Given the description of an element on the screen output the (x, y) to click on. 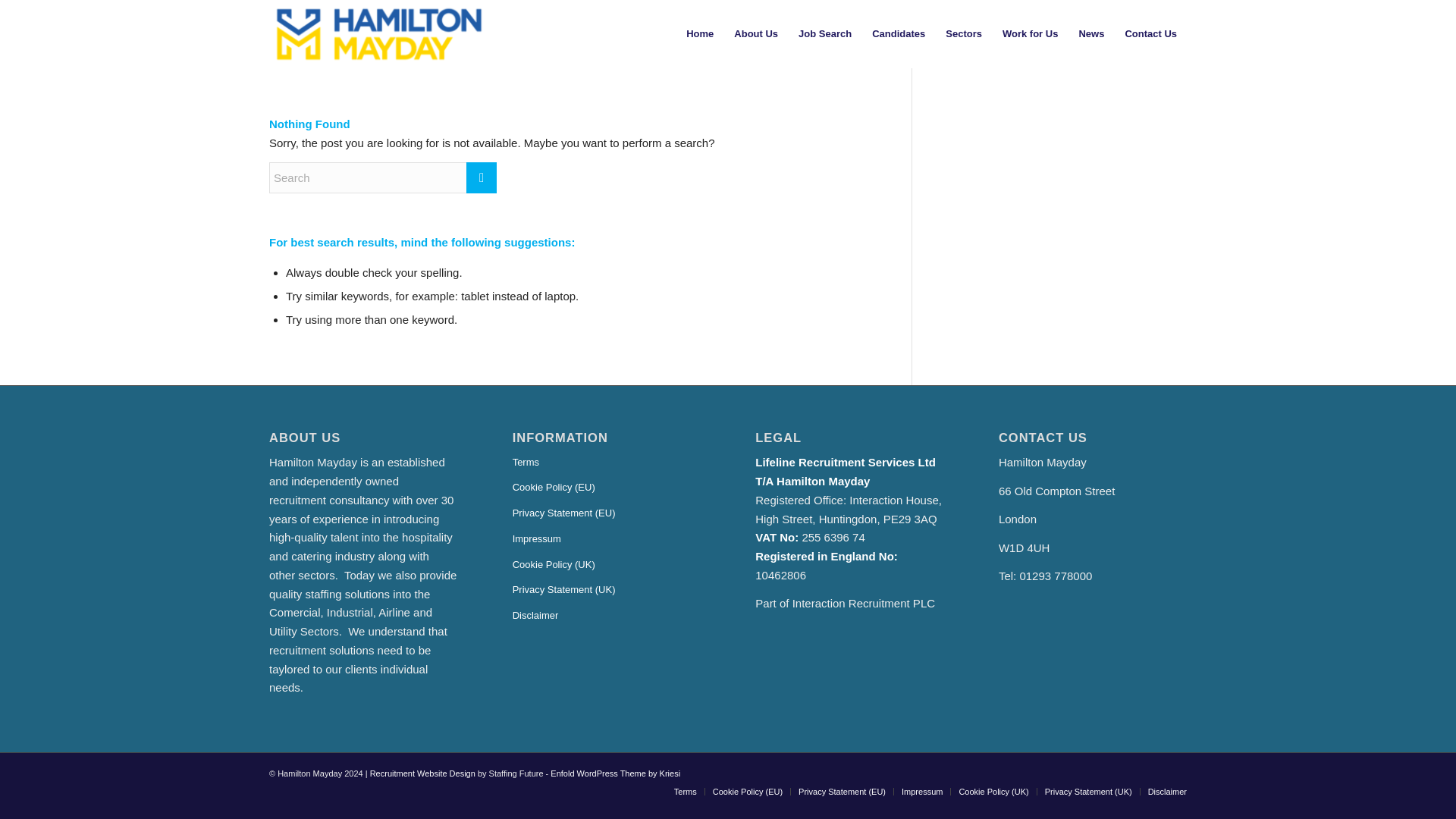
Impressum (606, 539)
Contact Us (1149, 33)
News (1090, 33)
Sectors (962, 33)
Work for Us (1029, 33)
Candidates (897, 33)
Job Search (824, 33)
Home (700, 33)
Disclaimer (606, 616)
Impressum (921, 791)
Enfold WordPress Theme by Kriesi (614, 773)
About Us (755, 33)
Recruitment Website Design (422, 773)
Terms (606, 462)
Disclaimer (1167, 791)
